Given the description of an element on the screen output the (x, y) to click on. 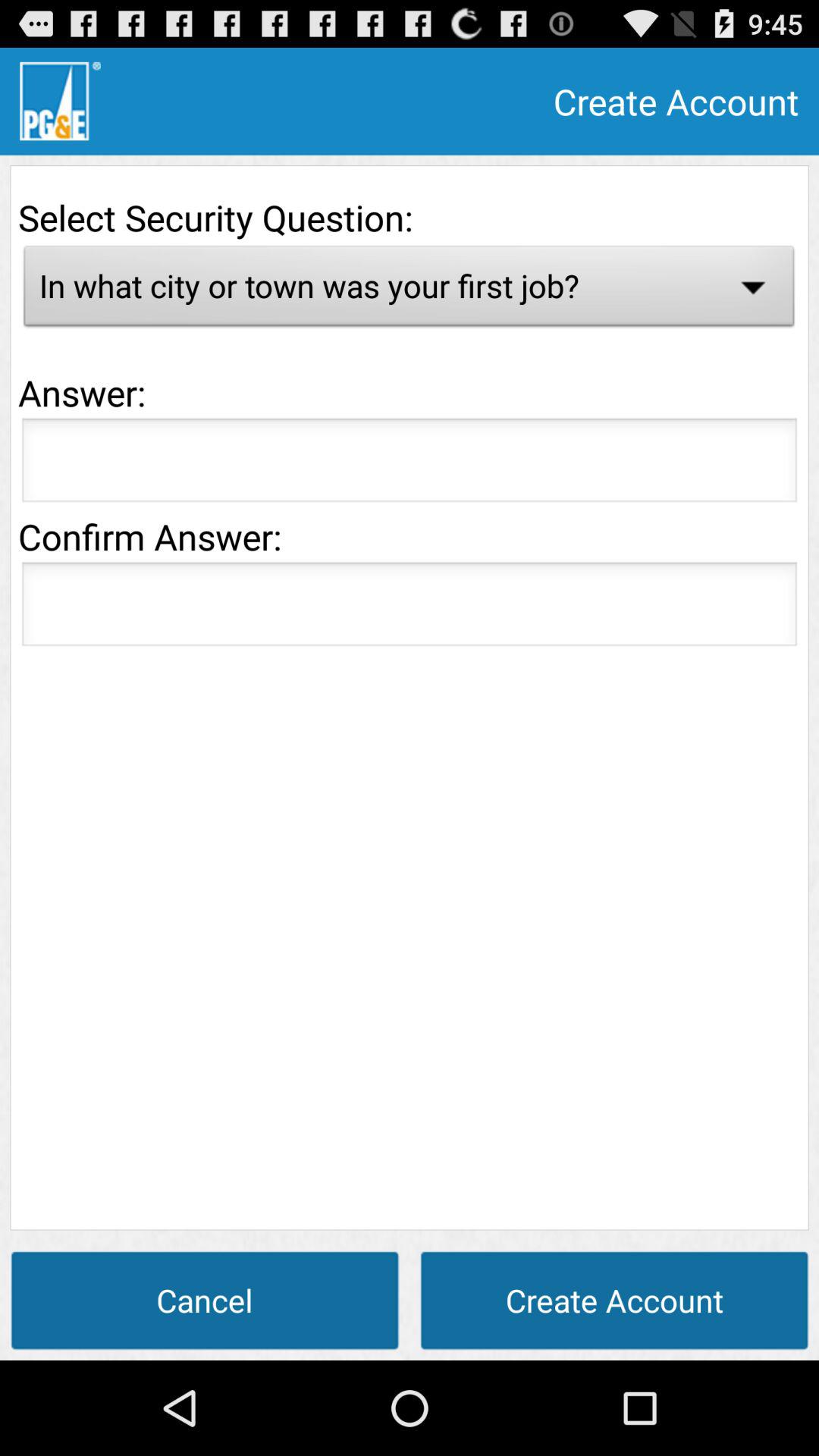
enter answer (409, 464)
